Given the description of an element on the screen output the (x, y) to click on. 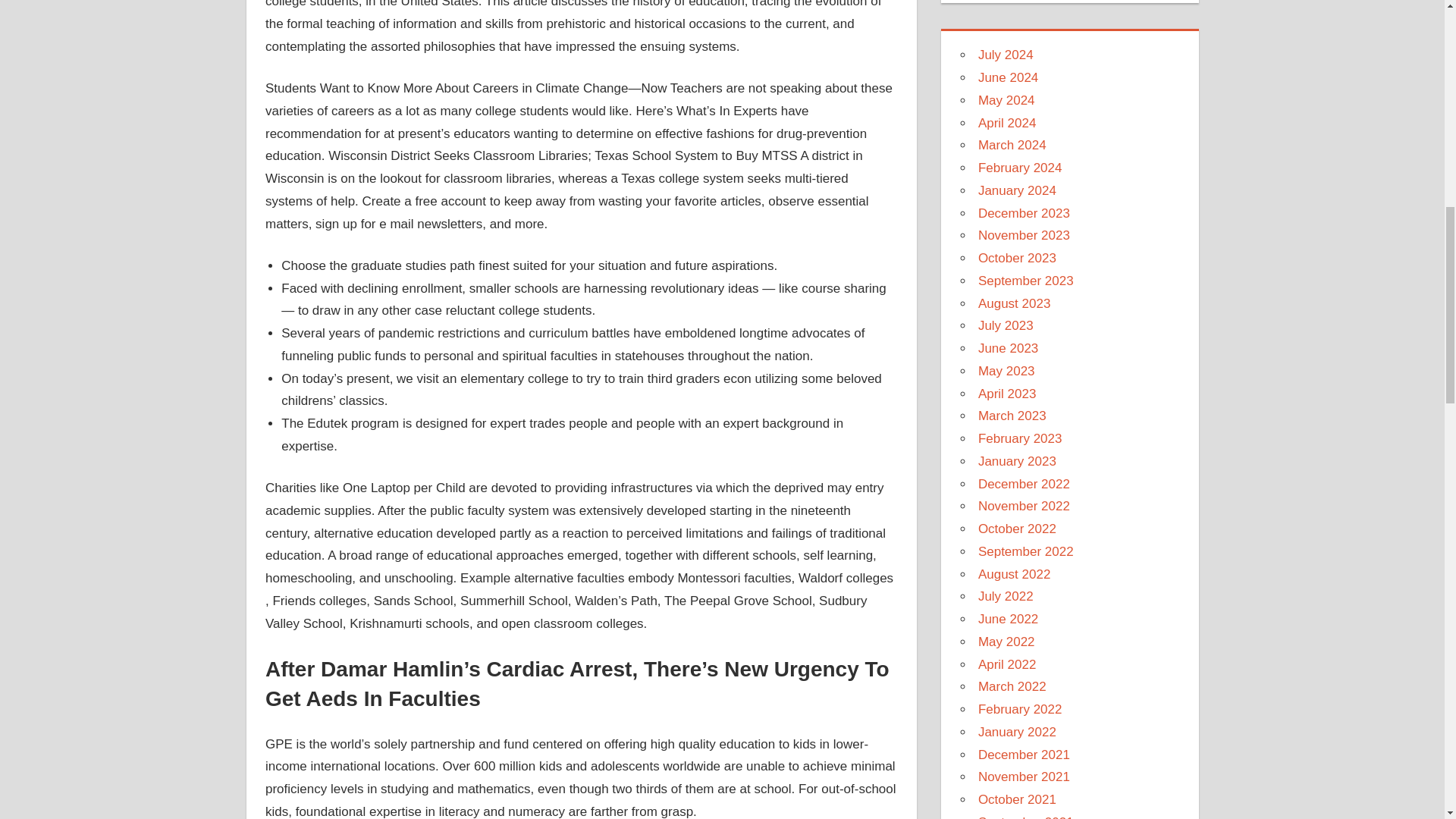
September 2023 (1026, 280)
November 2023 (1024, 235)
June 2024 (1008, 77)
July 2023 (1005, 325)
March 2024 (1012, 145)
August 2023 (1013, 302)
January 2024 (1017, 190)
July 2024 (1005, 54)
April 2024 (1007, 122)
December 2023 (1024, 213)
